Given the description of an element on the screen output the (x, y) to click on. 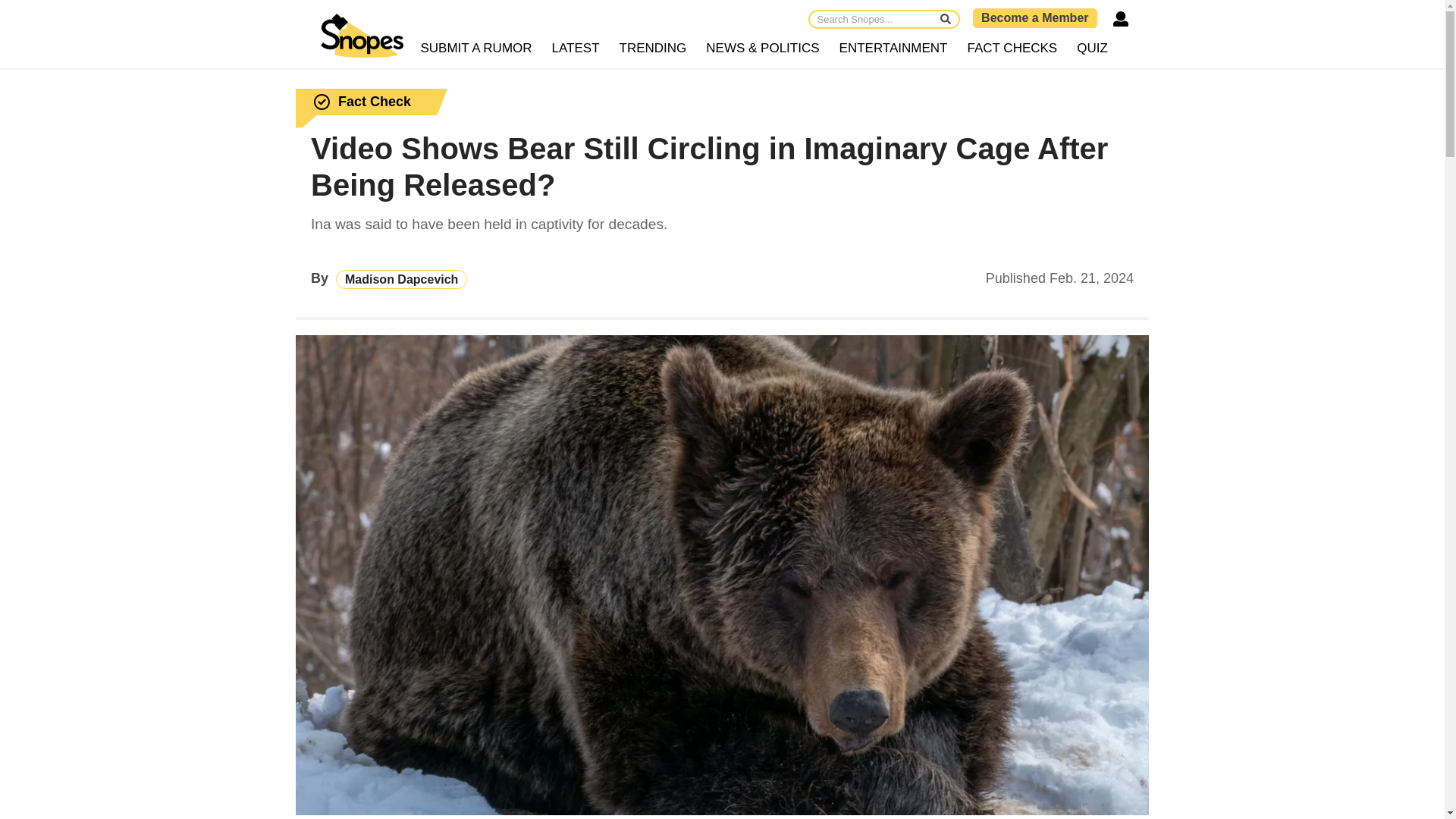
FACT CHECKS (1011, 47)
Become a Member (1034, 17)
Madison Dapcevich (401, 279)
SUBMIT A RUMOR (475, 47)
QUIZ (1092, 47)
LATEST (576, 47)
TRENDING (653, 47)
ENTERTAINMENT (893, 47)
